Given the description of an element on the screen output the (x, y) to click on. 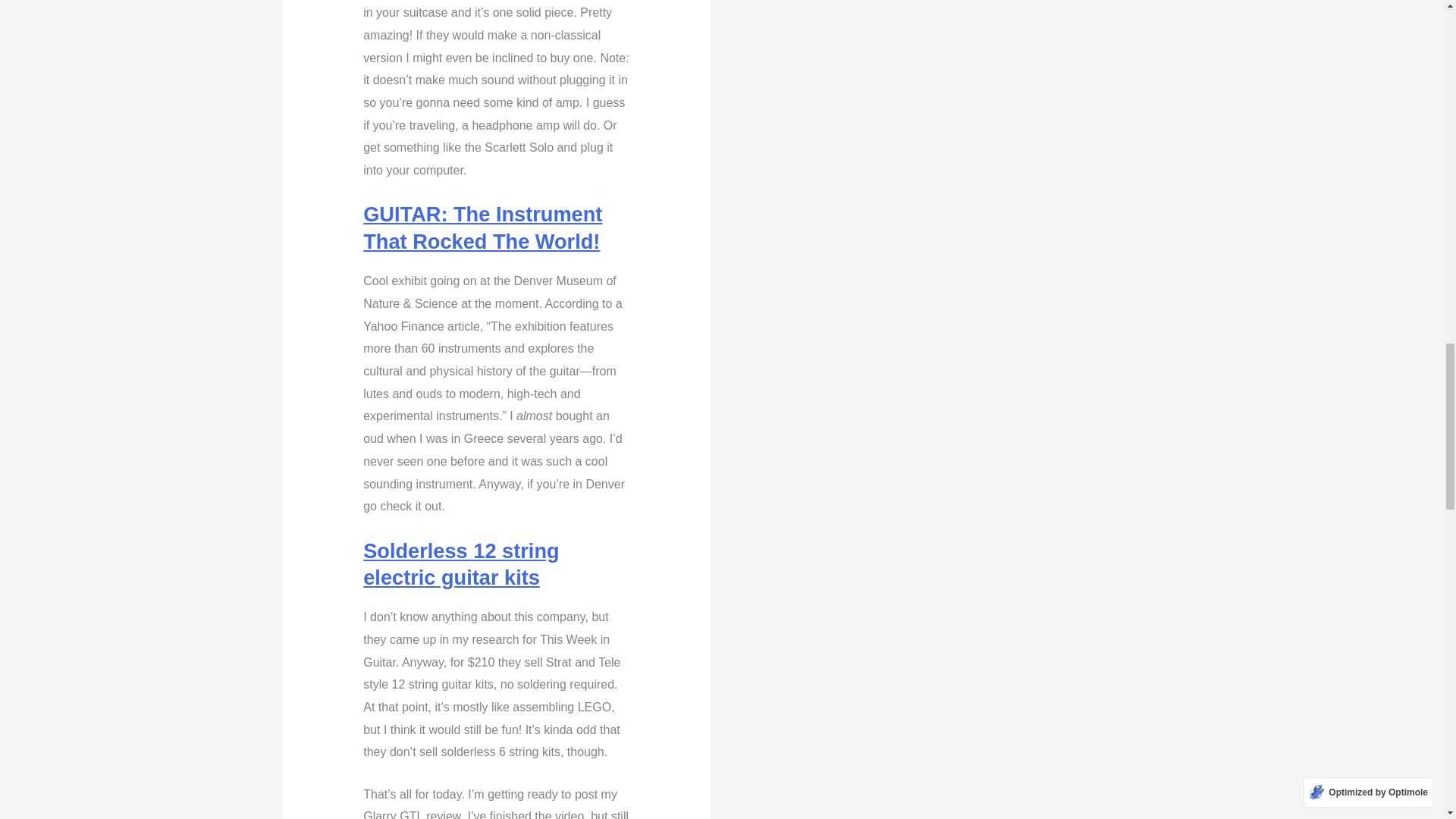
GUITAR: The Instrument That Rocked The World! (482, 227)
Solderless 12 string electric guitar kits (460, 563)
